Given the description of an element on the screen output the (x, y) to click on. 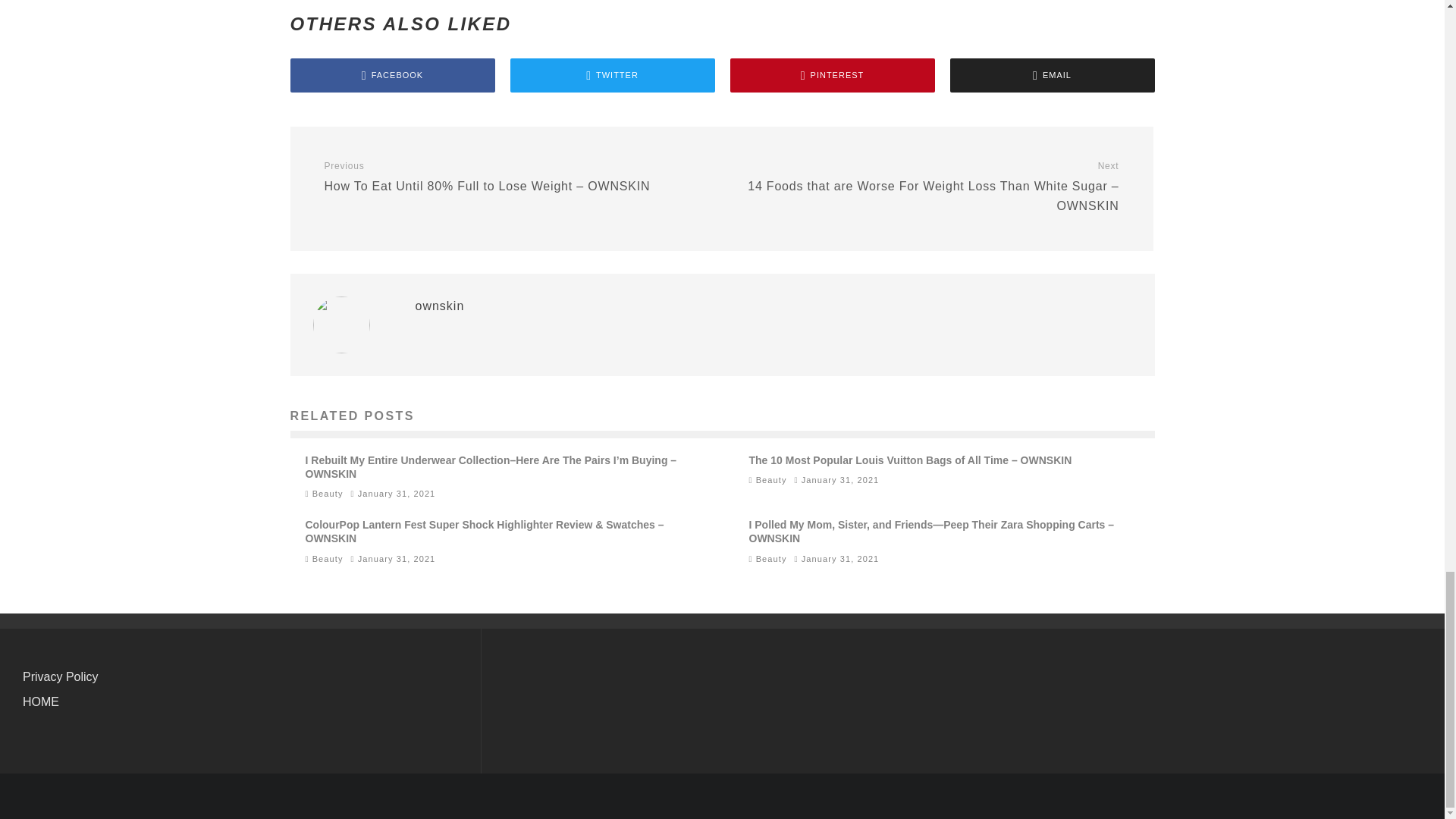
TWITTER (611, 75)
ownskin (439, 305)
EMAIL (1051, 75)
Beauty (328, 493)
PINTEREST (831, 75)
Beauty (771, 480)
Beauty (328, 558)
FACEBOOK (392, 75)
